Given the description of an element on the screen output the (x, y) to click on. 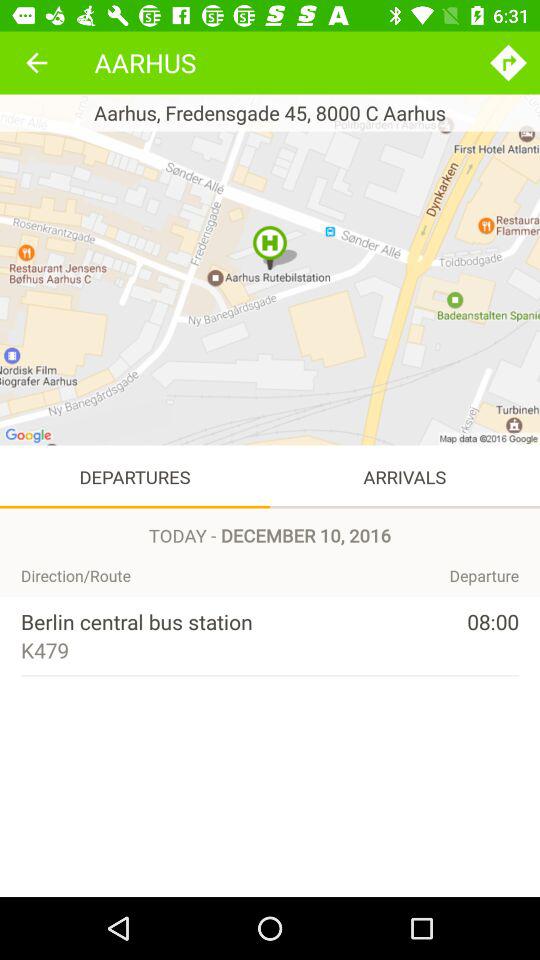
press the item to the right of aarhus icon (508, 62)
